Given the description of an element on the screen output the (x, y) to click on. 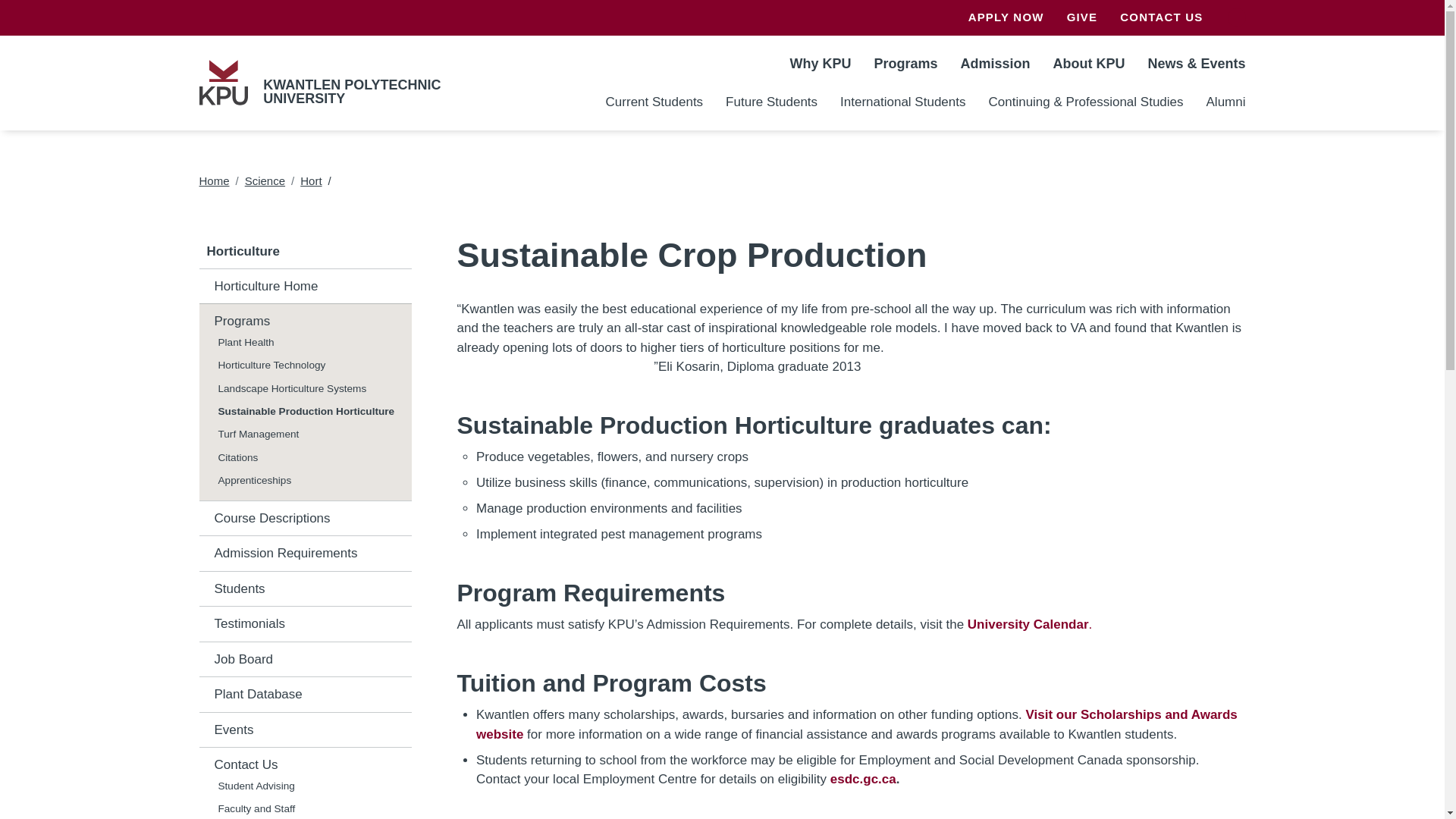
Science (264, 180)
Admission Requirements (304, 553)
Sustainable Production Horticulture (307, 411)
Home (222, 82)
Testimonials (304, 623)
Citations (307, 457)
Job Board (304, 659)
Current Students (654, 101)
About KPU (1088, 62)
Programs (304, 321)
Apprenticeships (307, 480)
Alumni (1220, 101)
Course Descriptions (304, 518)
ei (862, 779)
Home (213, 180)
